Given the description of an element on the screen output the (x, y) to click on. 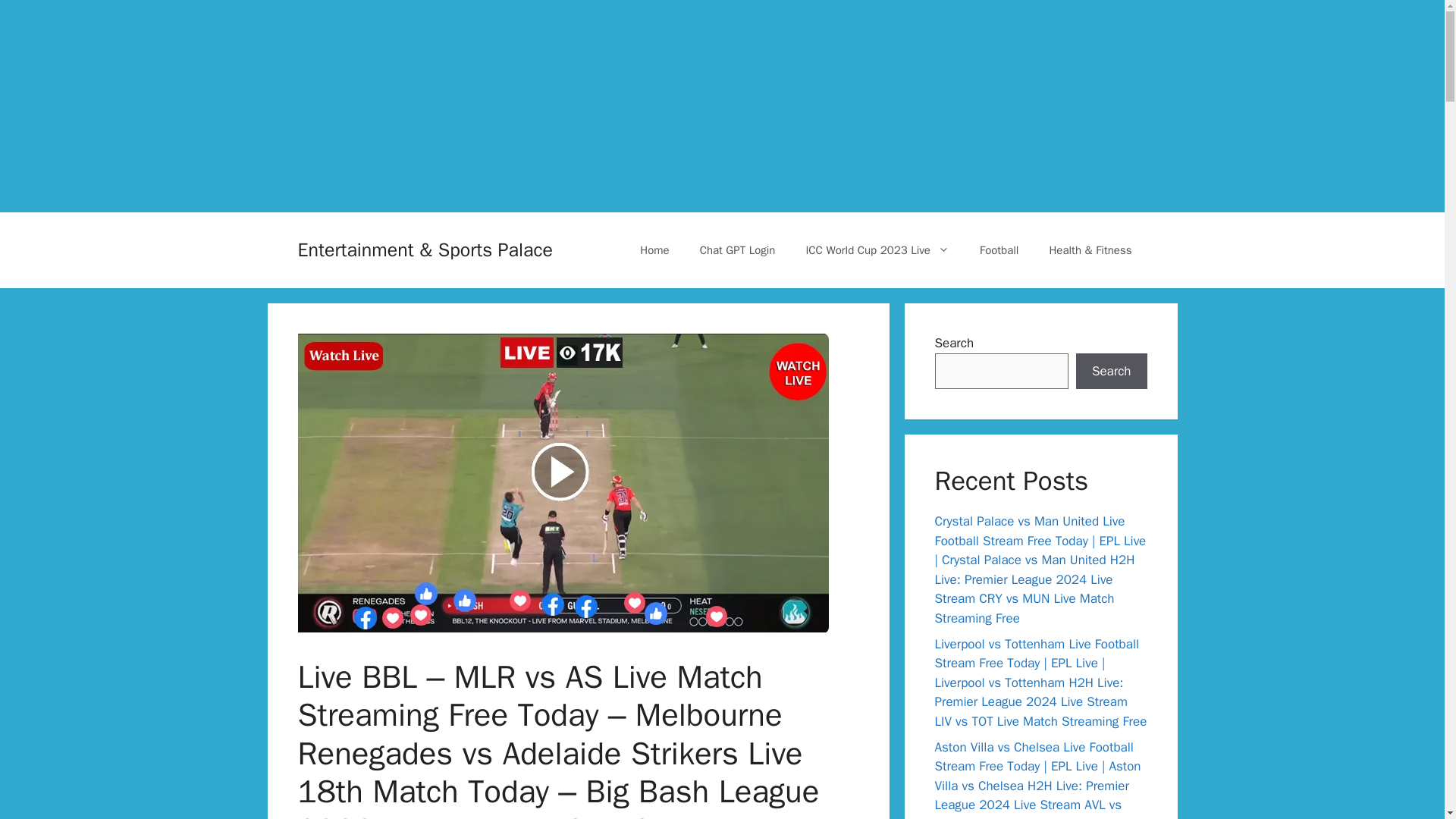
Search (1111, 370)
Home (654, 249)
Chat GPT Login (737, 249)
ICC World Cup 2023 Live (876, 249)
Football (998, 249)
